Given the description of an element on the screen output the (x, y) to click on. 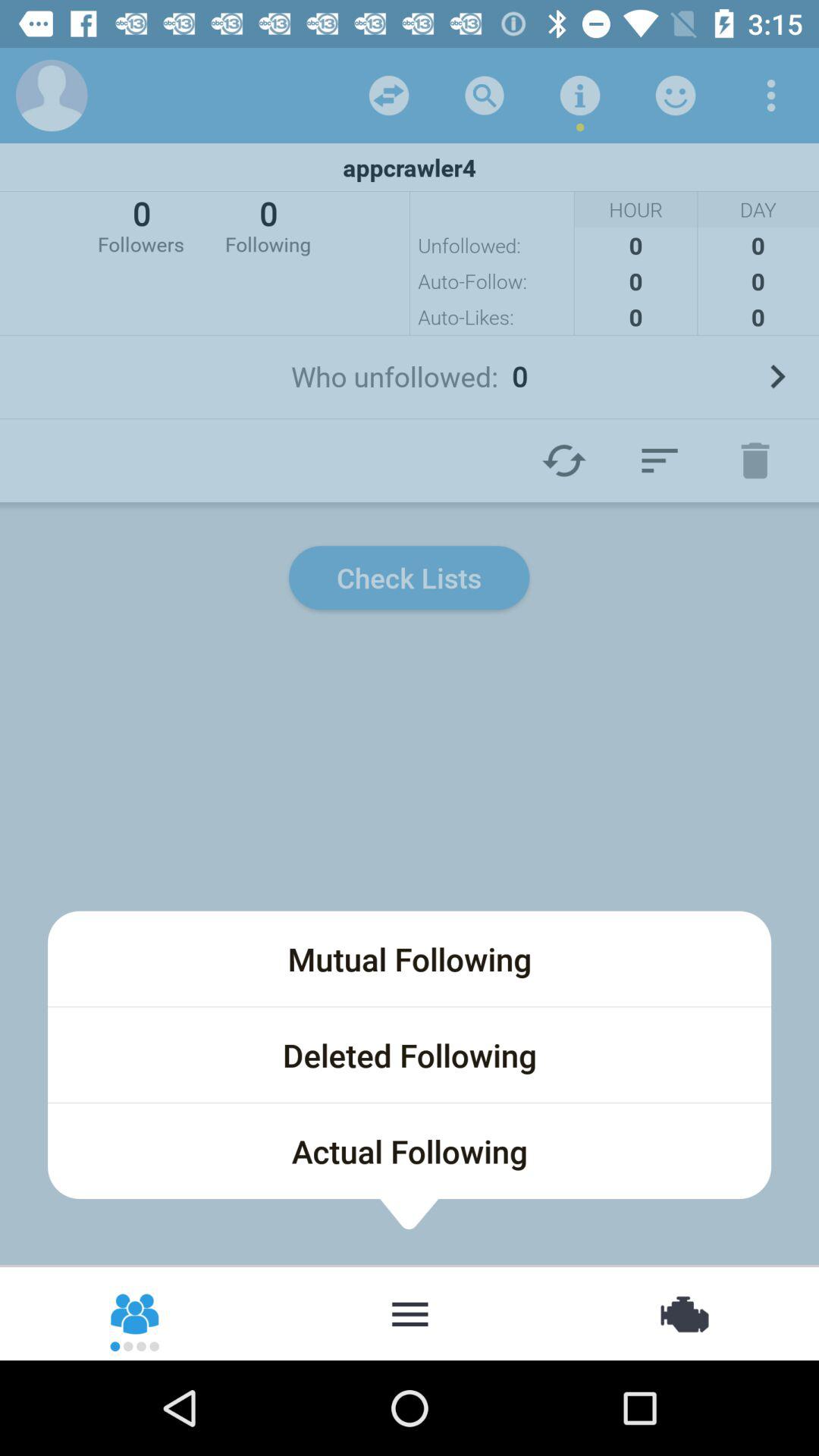
view friends list (136, 1312)
